Given the description of an element on the screen output the (x, y) to click on. 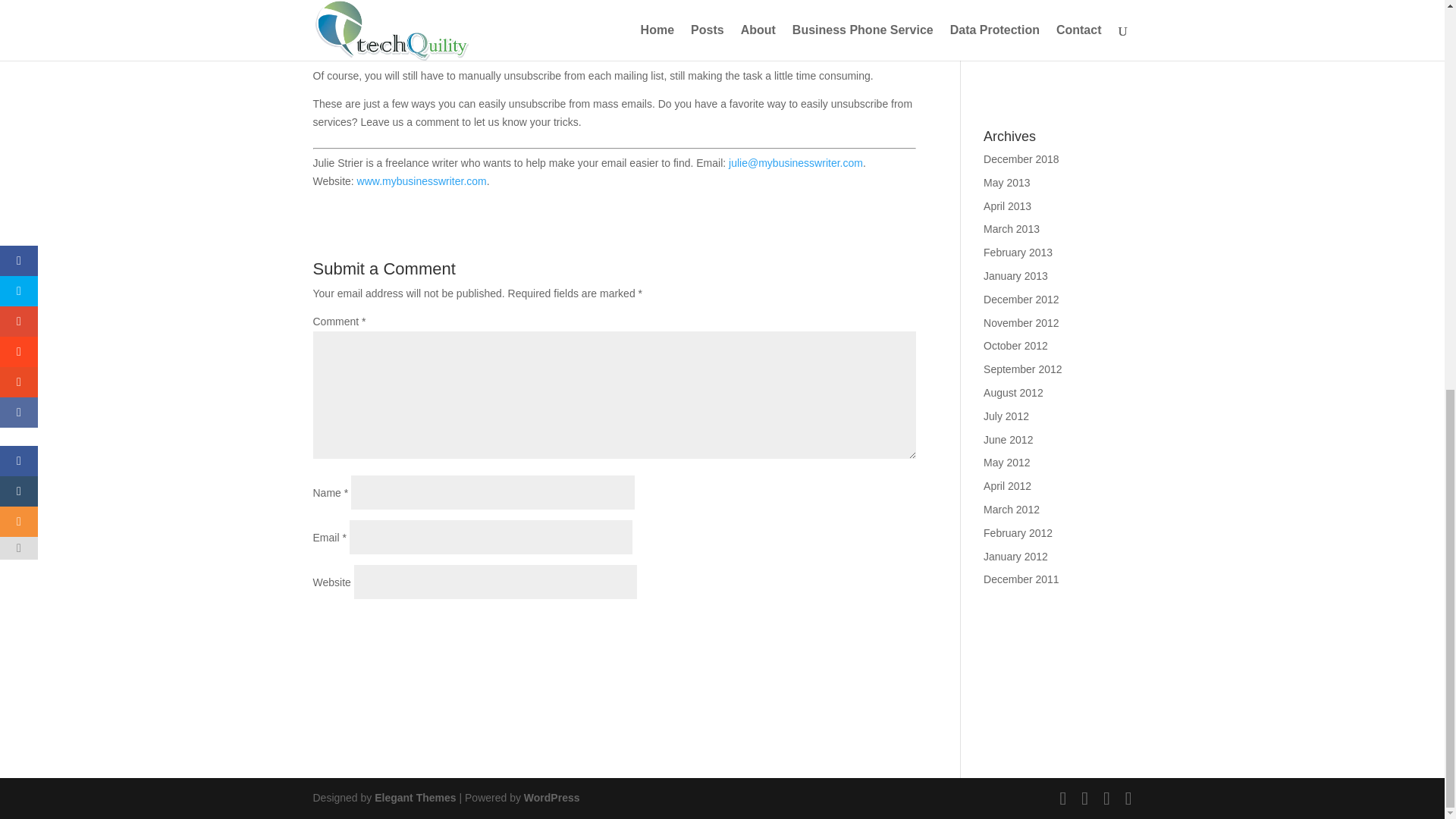
www.mybusinesswriter.com (421, 181)
September 2012 (1023, 369)
January 2013 (1016, 275)
October 2012 (1016, 345)
Premium WordPress Themes (414, 797)
December 2012 (1021, 299)
February 2013 (1018, 252)
MyBusinessWrtier.com (421, 181)
July 2012 (1006, 416)
April 2013 (1007, 205)
Submit Comment (840, 628)
March 2013 (1011, 228)
Submit Comment (840, 628)
December 2018 (1021, 159)
May 2013 (1006, 182)
